Given the description of an element on the screen output the (x, y) to click on. 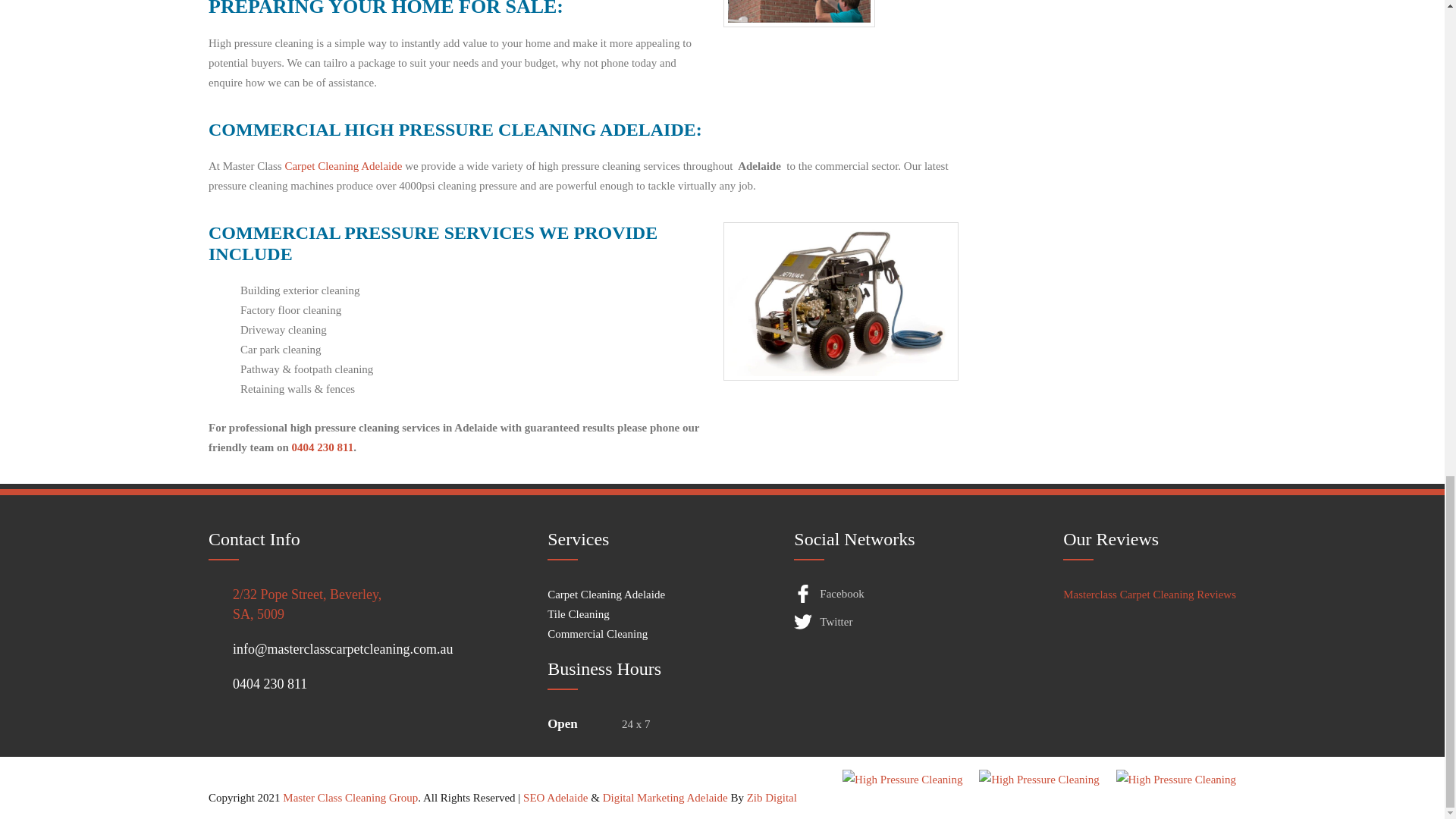
Zib Digital (771, 797)
Tile Cleaning (578, 613)
Carpet Cleaning Adelaide (606, 594)
Commercial Cleaning (597, 633)
Digital Marketing Adelaide (665, 797)
Facebook (895, 594)
0404 230 811 (377, 683)
Twitter (895, 622)
Master Class Cleaning Group (349, 797)
0404 230 811 (322, 447)
Carpet Cleaning Adelaide (342, 165)
SEO Adelaide (555, 797)
Masterclass Carpet Cleaning Reviews (1149, 594)
